Given the description of an element on the screen output the (x, y) to click on. 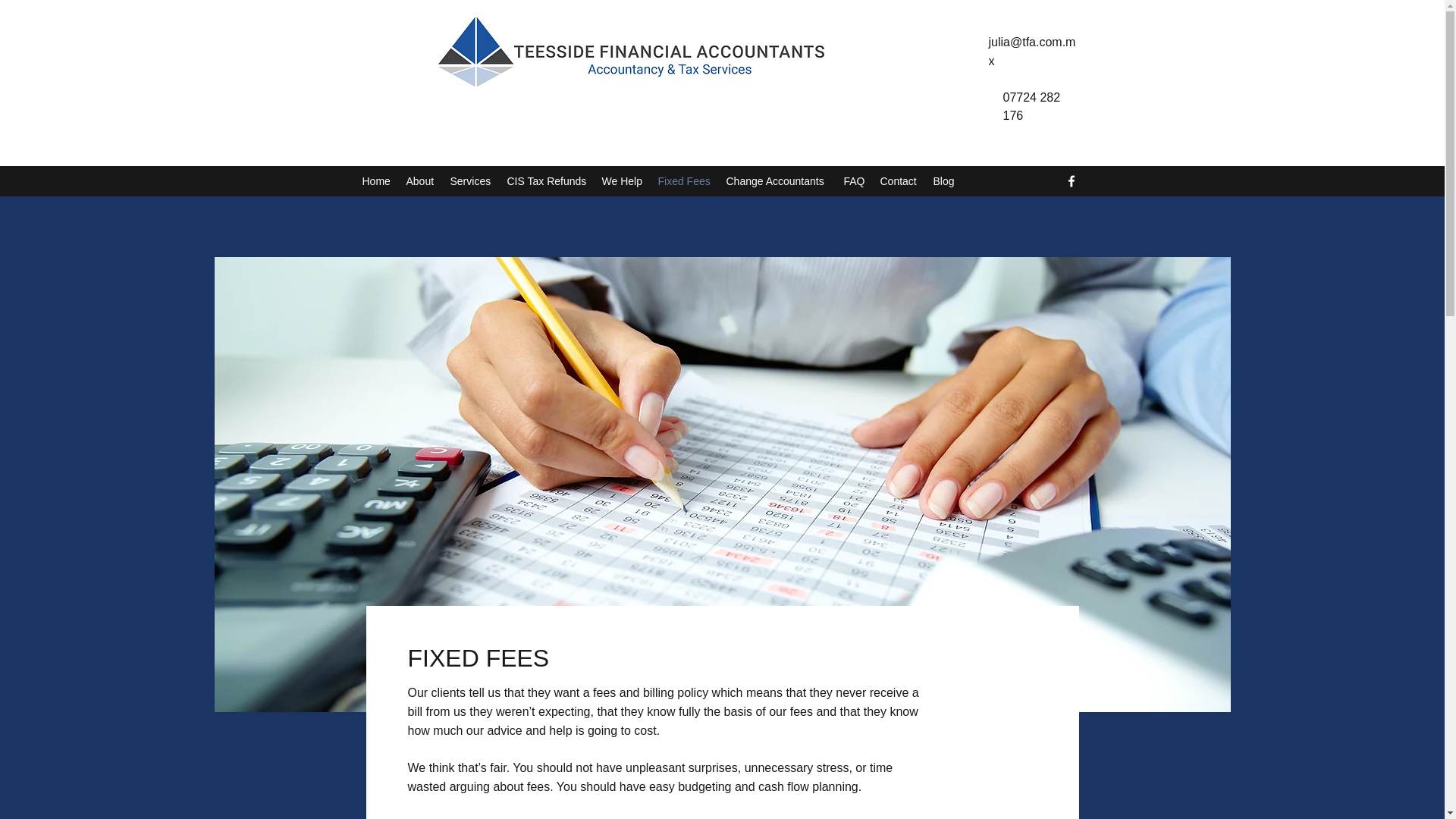
Services (470, 180)
Contact (898, 180)
About (420, 180)
Change Accountants (777, 180)
Home (376, 180)
Blog (943, 180)
We Help (622, 180)
CIS Tax Refunds (546, 180)
FAQ (853, 180)
Fixed Fees (684, 180)
